Given the description of an element on the screen output the (x, y) to click on. 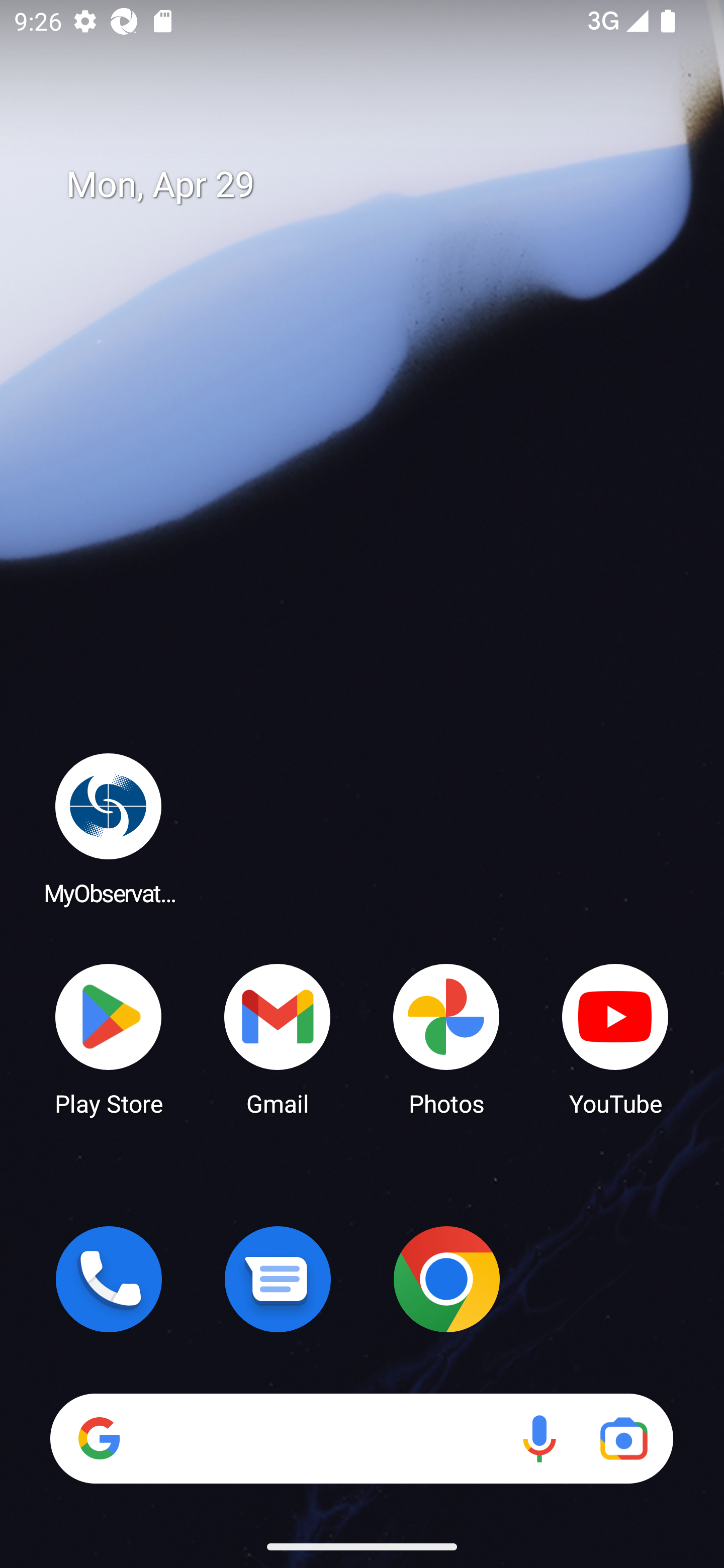
Mon, Apr 29 (375, 184)
MyObservatory (108, 828)
Play Store (108, 1038)
Gmail (277, 1038)
Photos (445, 1038)
YouTube (615, 1038)
Phone (108, 1279)
Messages (277, 1279)
Chrome (446, 1279)
Voice search (539, 1438)
Google Lens (623, 1438)
